Given the description of an element on the screen output the (x, y) to click on. 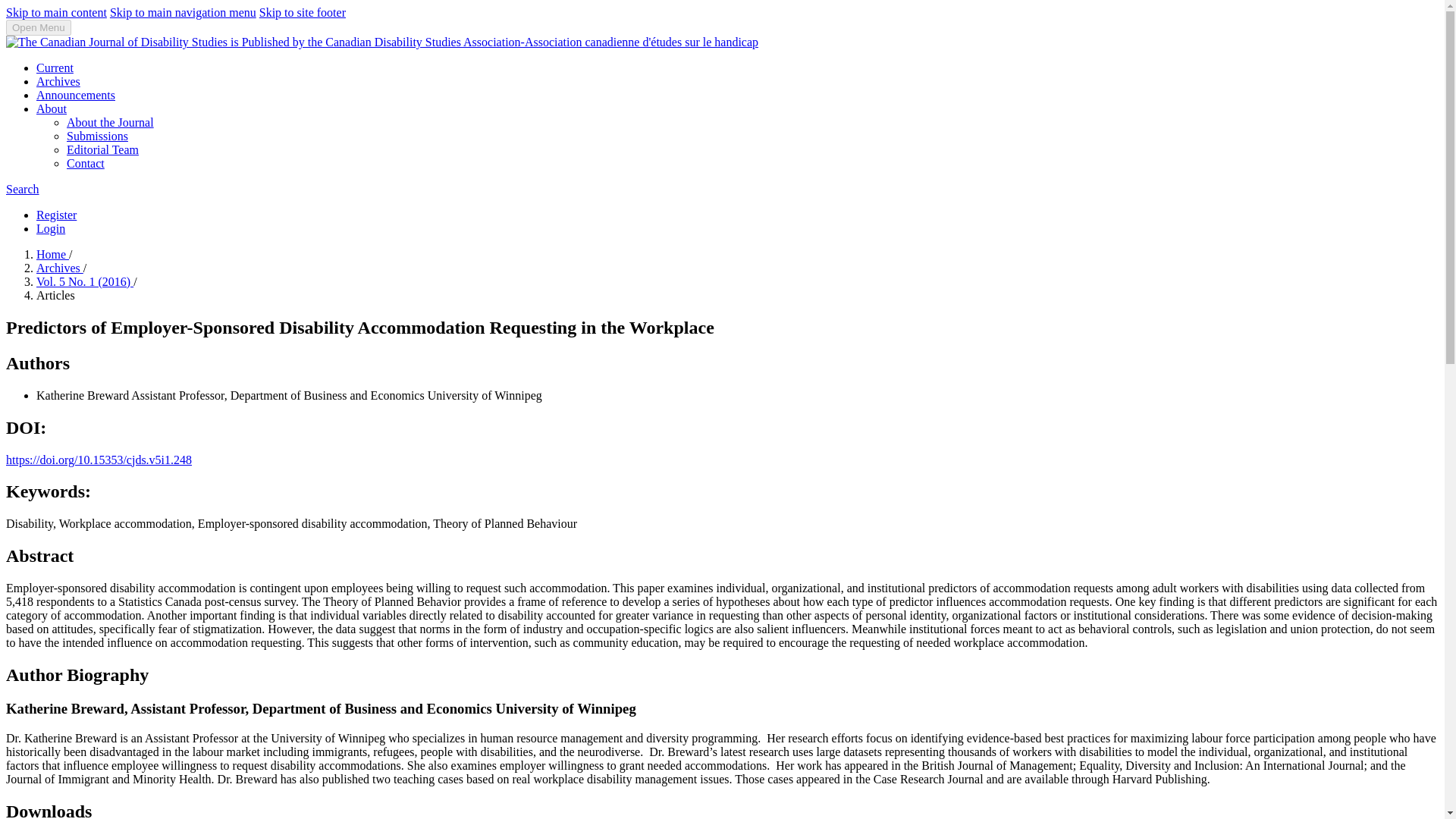
Home (52, 254)
Archives (58, 81)
Login (50, 228)
Register (56, 214)
Search (22, 188)
Skip to site footer (302, 11)
About (51, 108)
Current (55, 67)
Submissions (97, 135)
Skip to main content (55, 11)
